Given the description of an element on the screen output the (x, y) to click on. 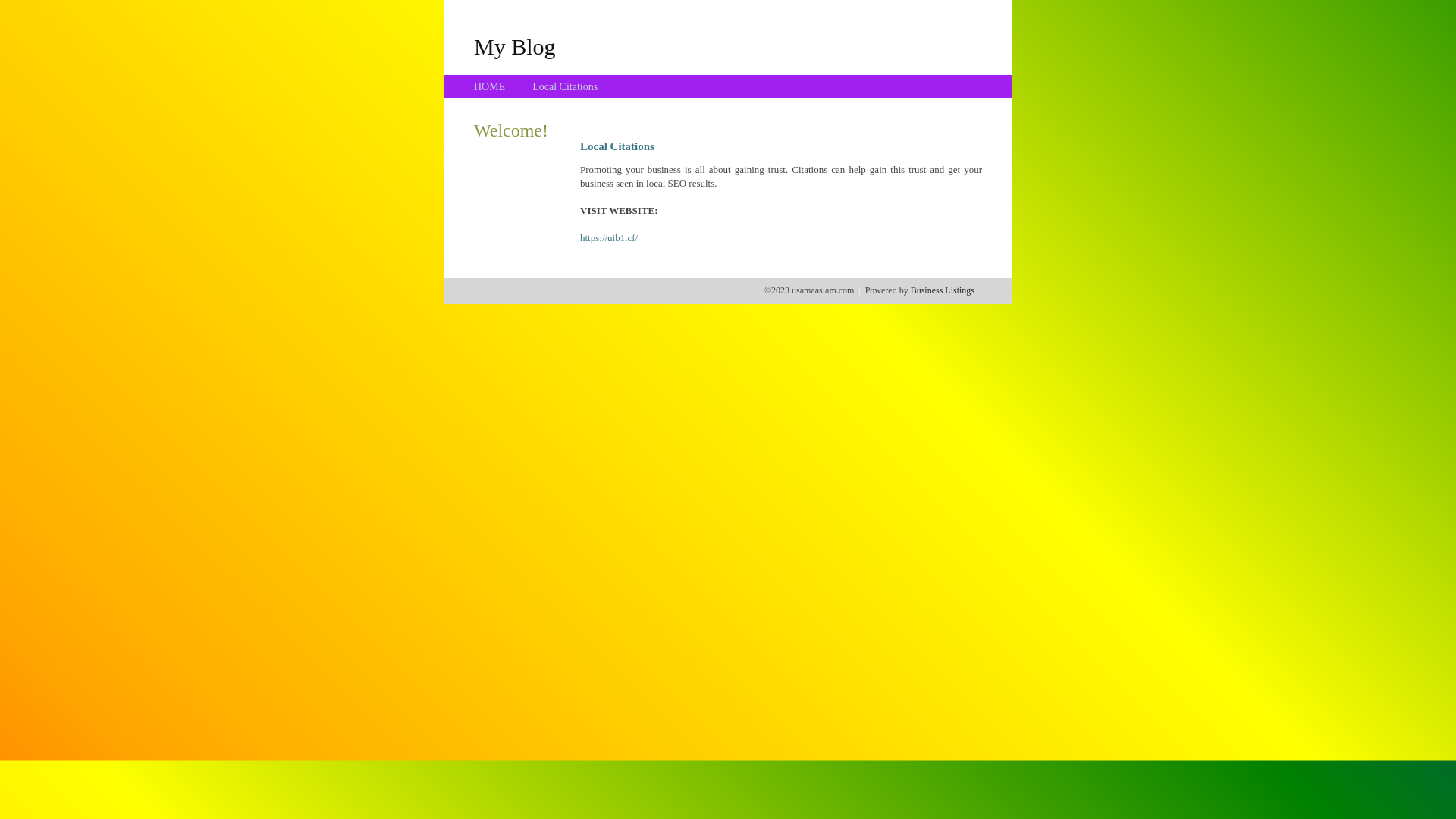
Local Citations Element type: text (564, 86)
HOME Element type: text (489, 86)
https://uib1.cf/ Element type: text (608, 237)
My Blog Element type: text (514, 46)
Business Listings Element type: text (942, 290)
